Given the description of an element on the screen output the (x, y) to click on. 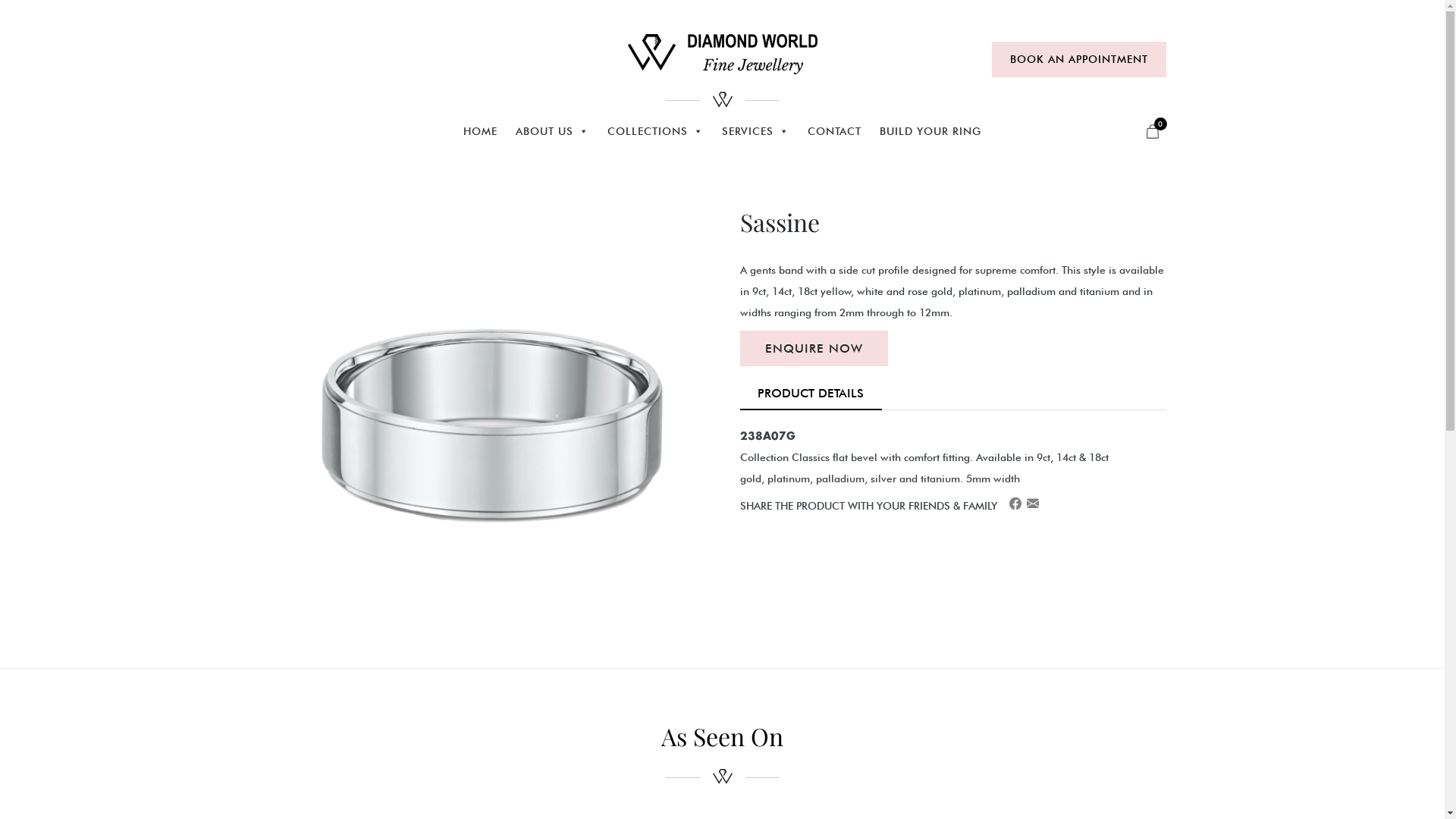
BOOK AN APPOINTMENT Element type: text (1078, 59)
CONTACT Element type: text (834, 132)
ENQUIRE NOW Element type: text (814, 348)
SERVICES Element type: text (755, 132)
291A22G-e1561337158147.png Element type: hover (492, 420)
COLLECTIONS Element type: text (655, 132)
ABOUT US Element type: text (552, 132)
0 Element type: text (1152, 130)
BUILD YOUR RING Element type: text (930, 132)
PRODUCT DETAILS Element type: text (810, 394)
HOME Element type: text (480, 132)
